Given the description of an element on the screen output the (x, y) to click on. 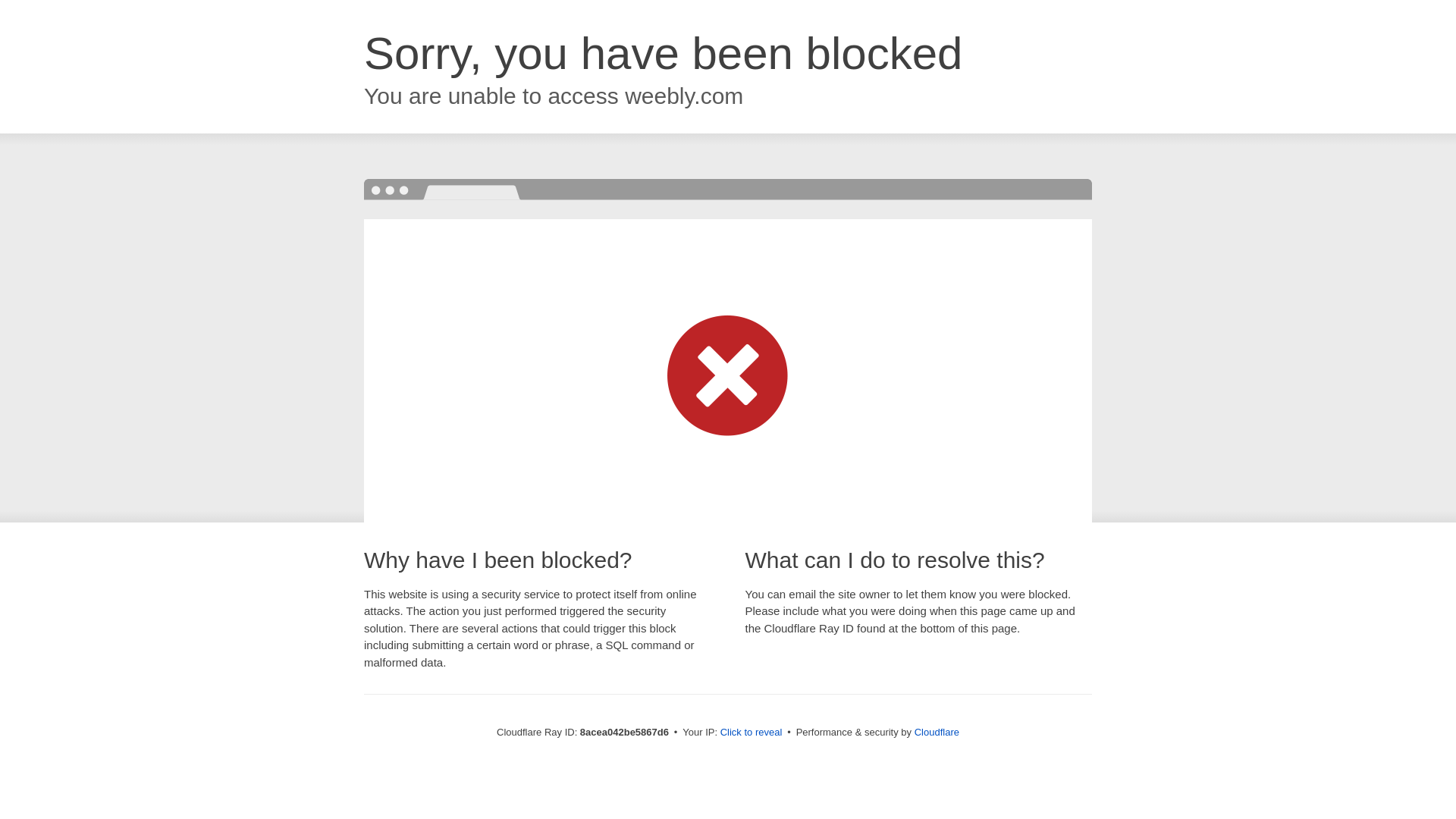
Cloudflare (936, 731)
Click to reveal (751, 732)
